Given the description of an element on the screen output the (x, y) to click on. 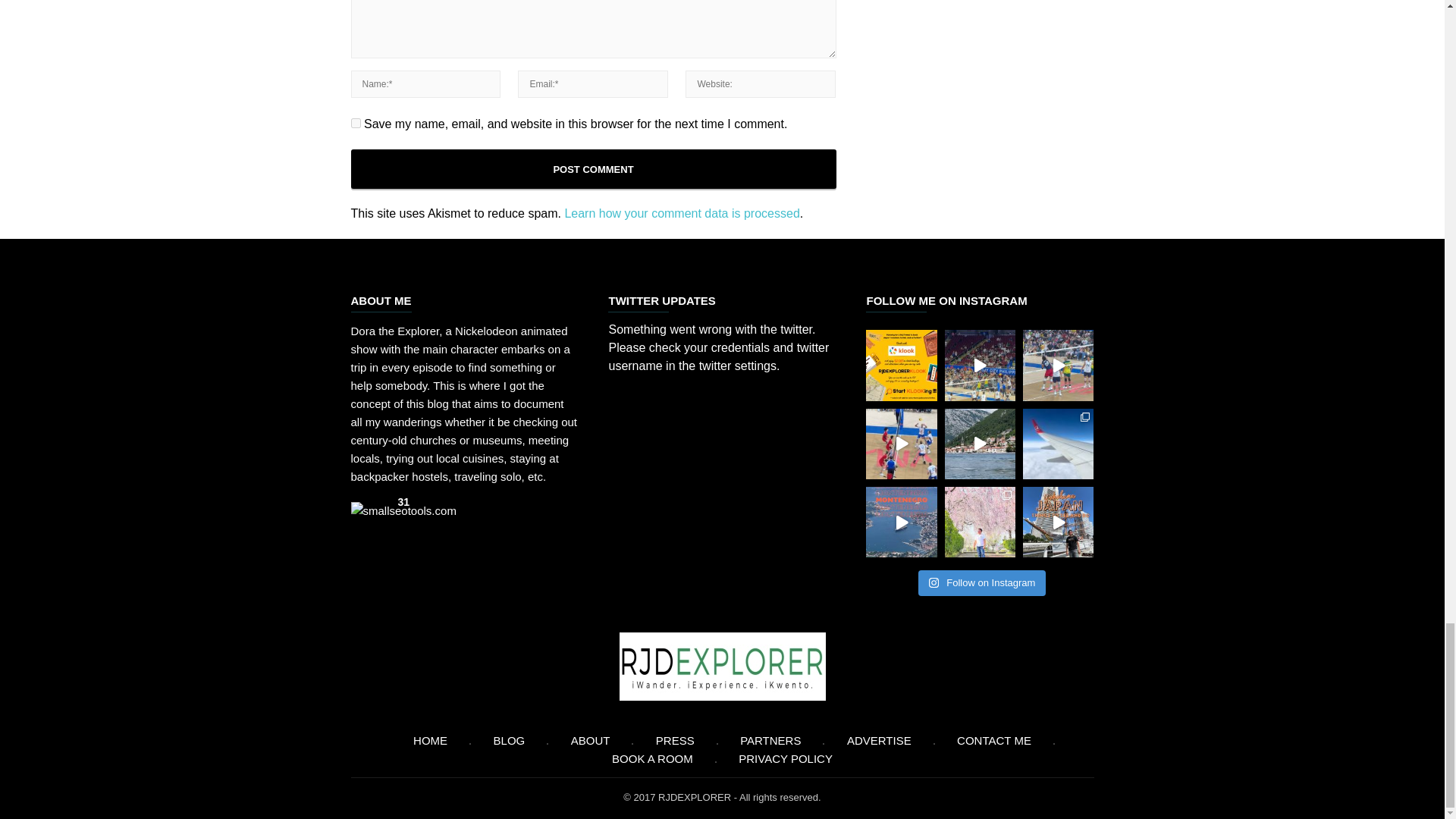
yes (354, 122)
Post Comment (592, 169)
